Given the description of an element on the screen output the (x, y) to click on. 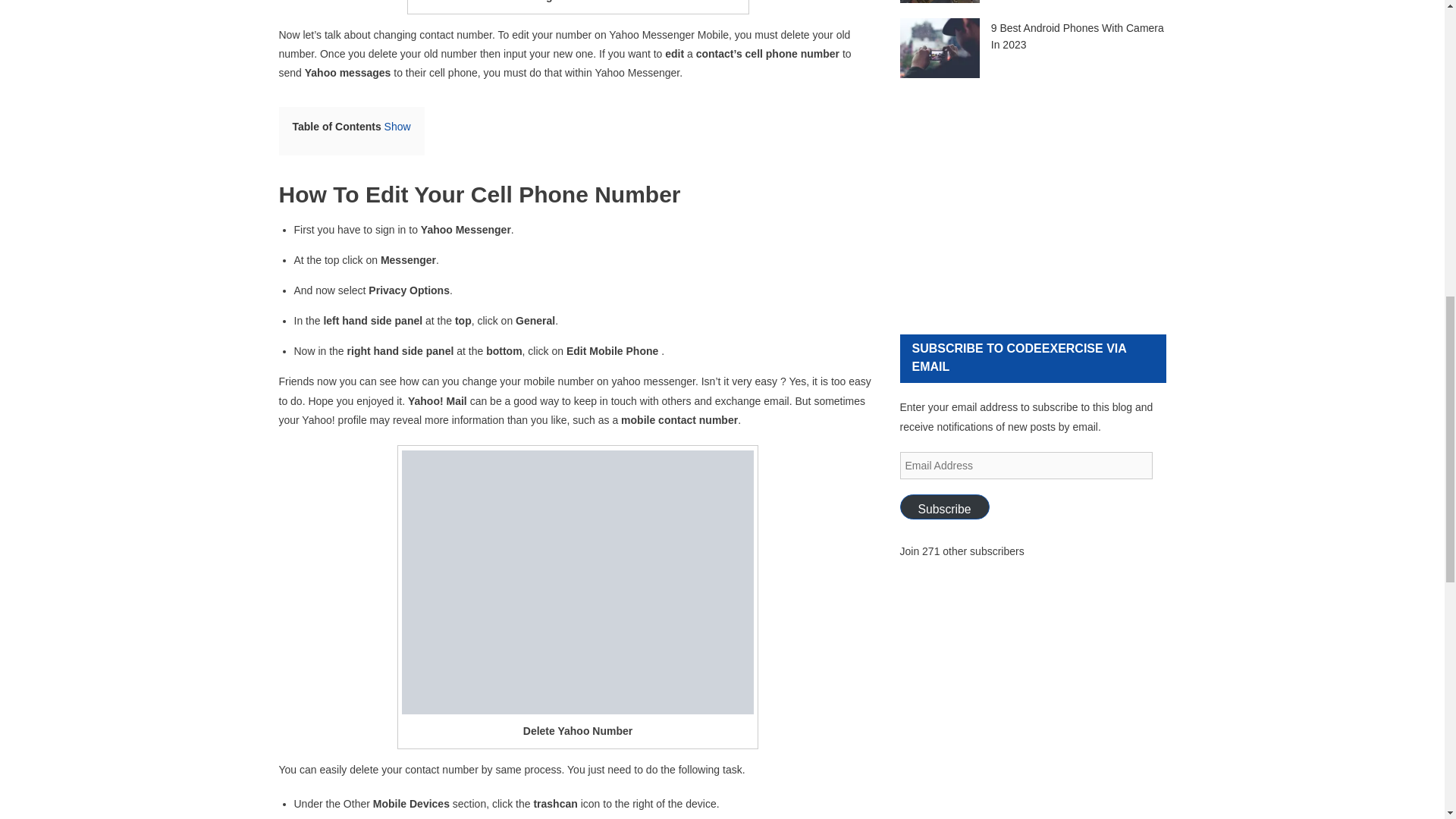
Show (397, 126)
